Given the description of an element on the screen output the (x, y) to click on. 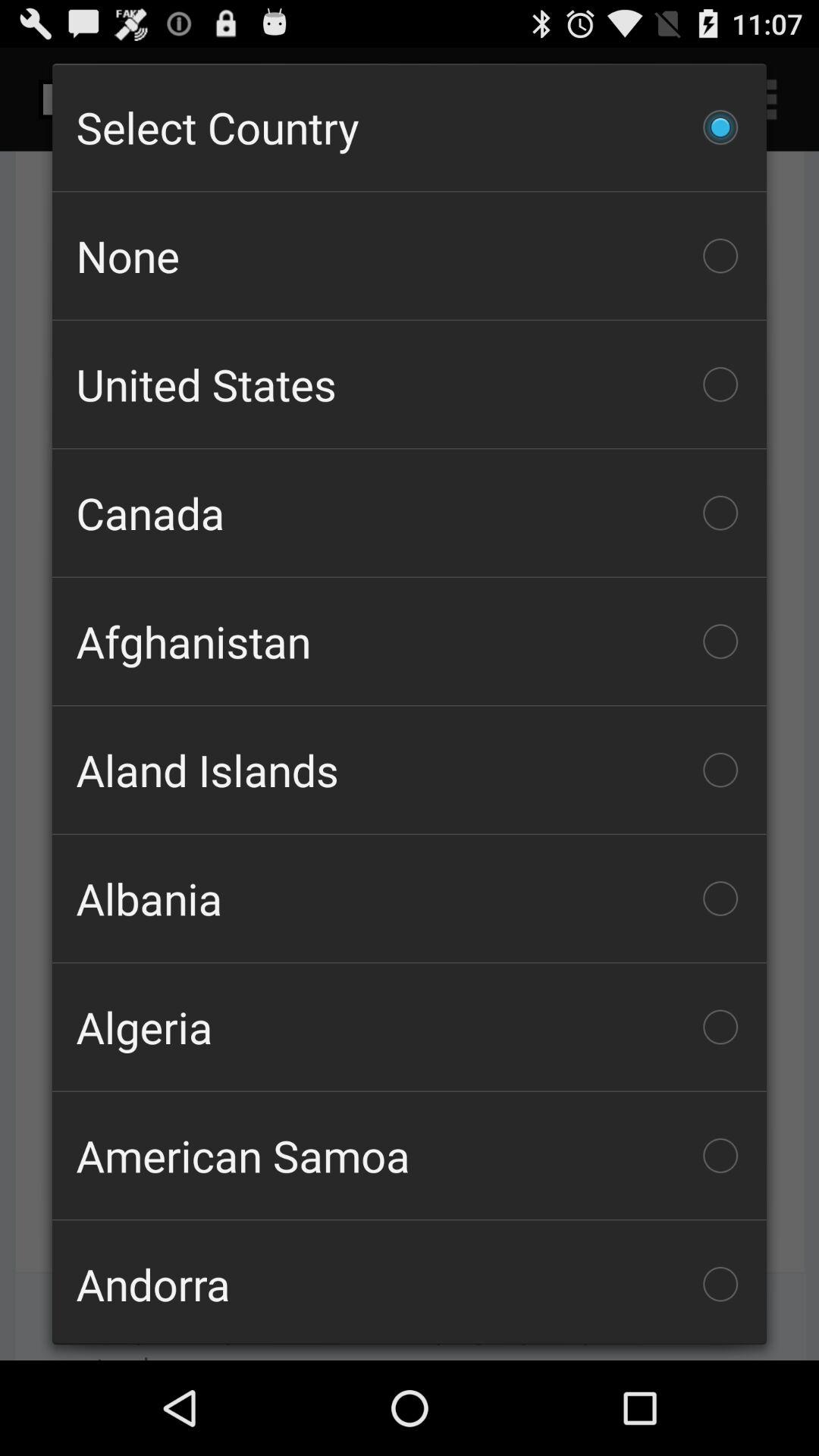
scroll until aland islands icon (409, 769)
